Given the description of an element on the screen output the (x, y) to click on. 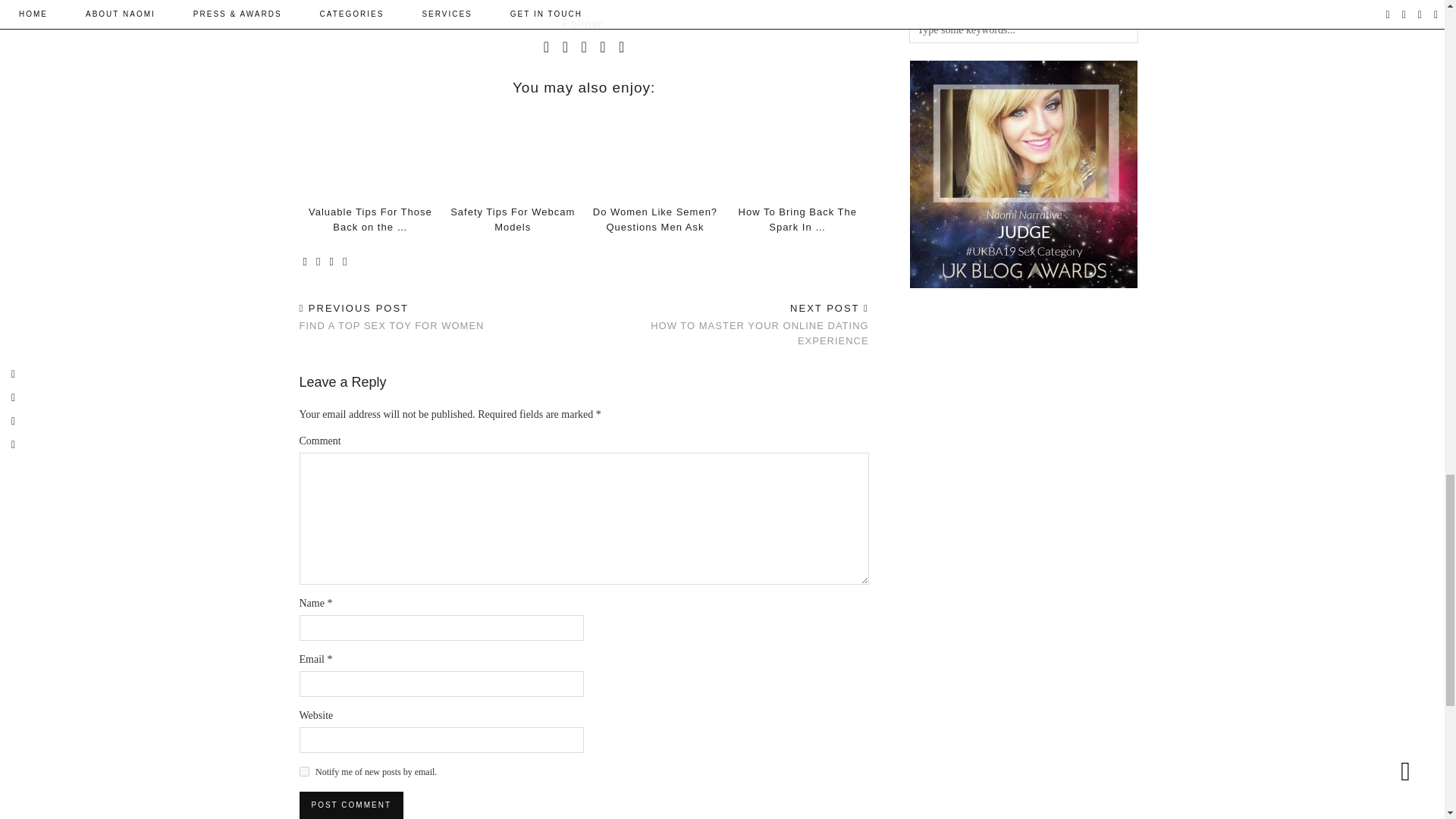
Share via email (304, 262)
Do Women Like Semen? Questions Men Ask (654, 219)
subscribe (303, 770)
Valuable Tips For Those Back on the Dating Scene Again (370, 219)
Safety Tips For Webcam Models (512, 219)
How To Bring Back The Spark In Your Relationship (797, 219)
Do Women Like Semen? Questions Men Ask (654, 153)
Safety Tips For Webcam Models (512, 219)
Do Women Like Semen? Questions Men Ask (654, 219)
How To Bring Back The Spark In Your Relationship (797, 153)
